Given the description of an element on the screen output the (x, y) to click on. 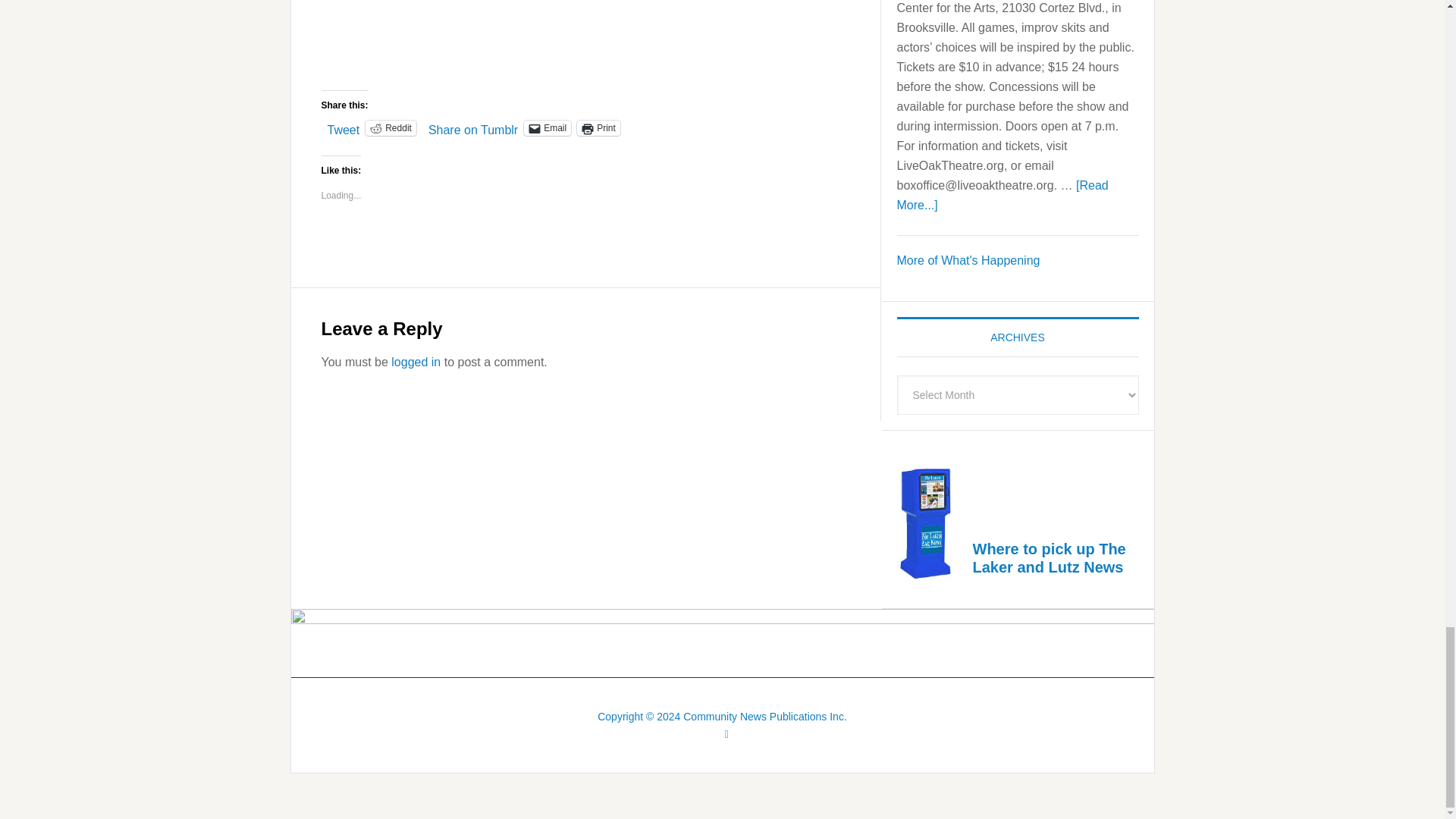
What's Happening (967, 259)
Click to share on Reddit (390, 127)
Click to email a link to a friend (547, 127)
Share on Tumblr (473, 127)
Click to print (598, 127)
